Given the description of an element on the screen output the (x, y) to click on. 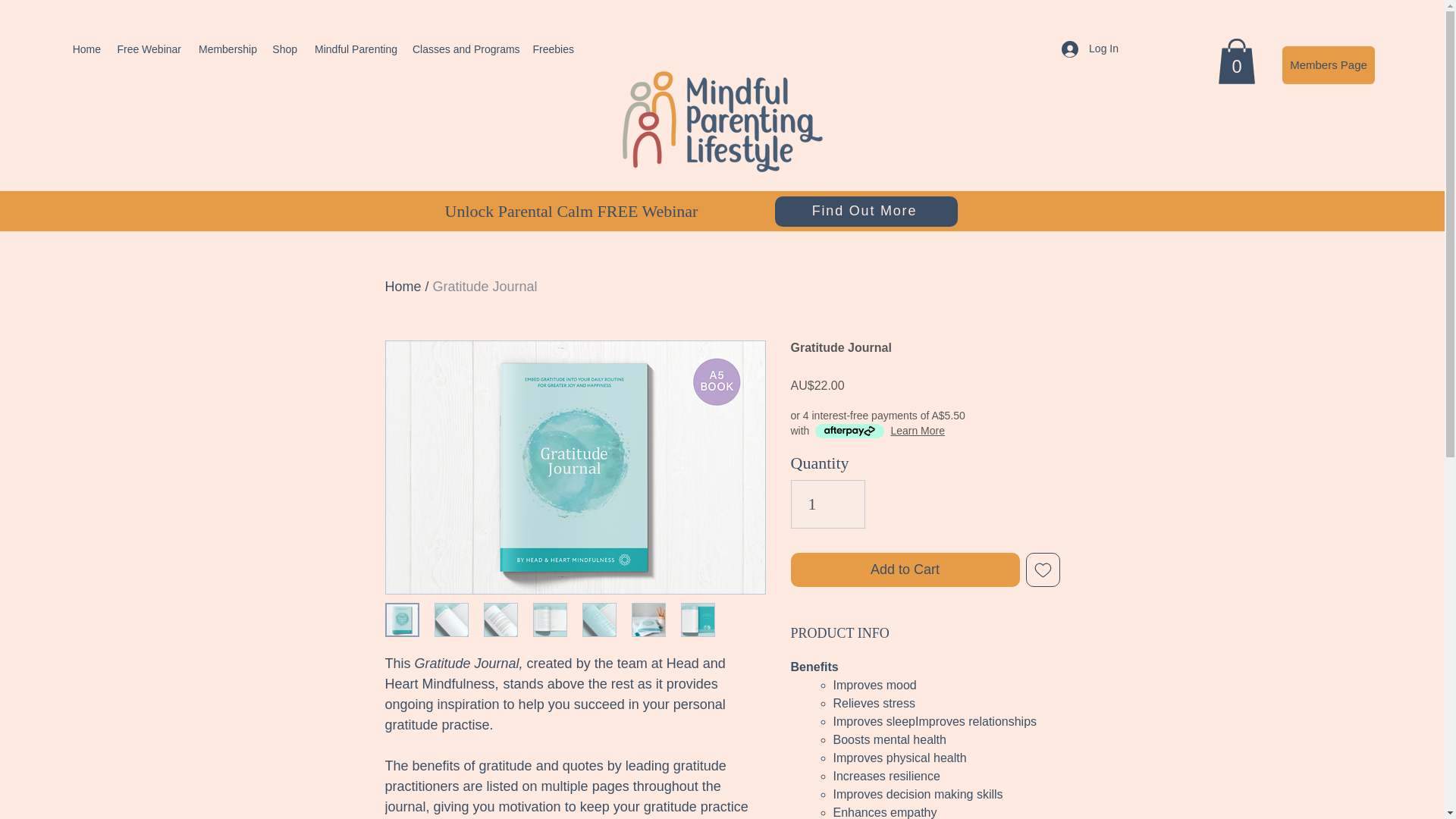
Shop (284, 48)
Home (403, 286)
1 (827, 503)
Gratitude Journal (484, 286)
Members Page (1328, 64)
Freebies (552, 48)
Home (85, 48)
Classes and Programs (464, 48)
Log In (1090, 49)
Free Webinar (148, 48)
Mindful Parenting (354, 48)
Find Out More (866, 211)
Membership (226, 48)
